Given the description of an element on the screen output the (x, y) to click on. 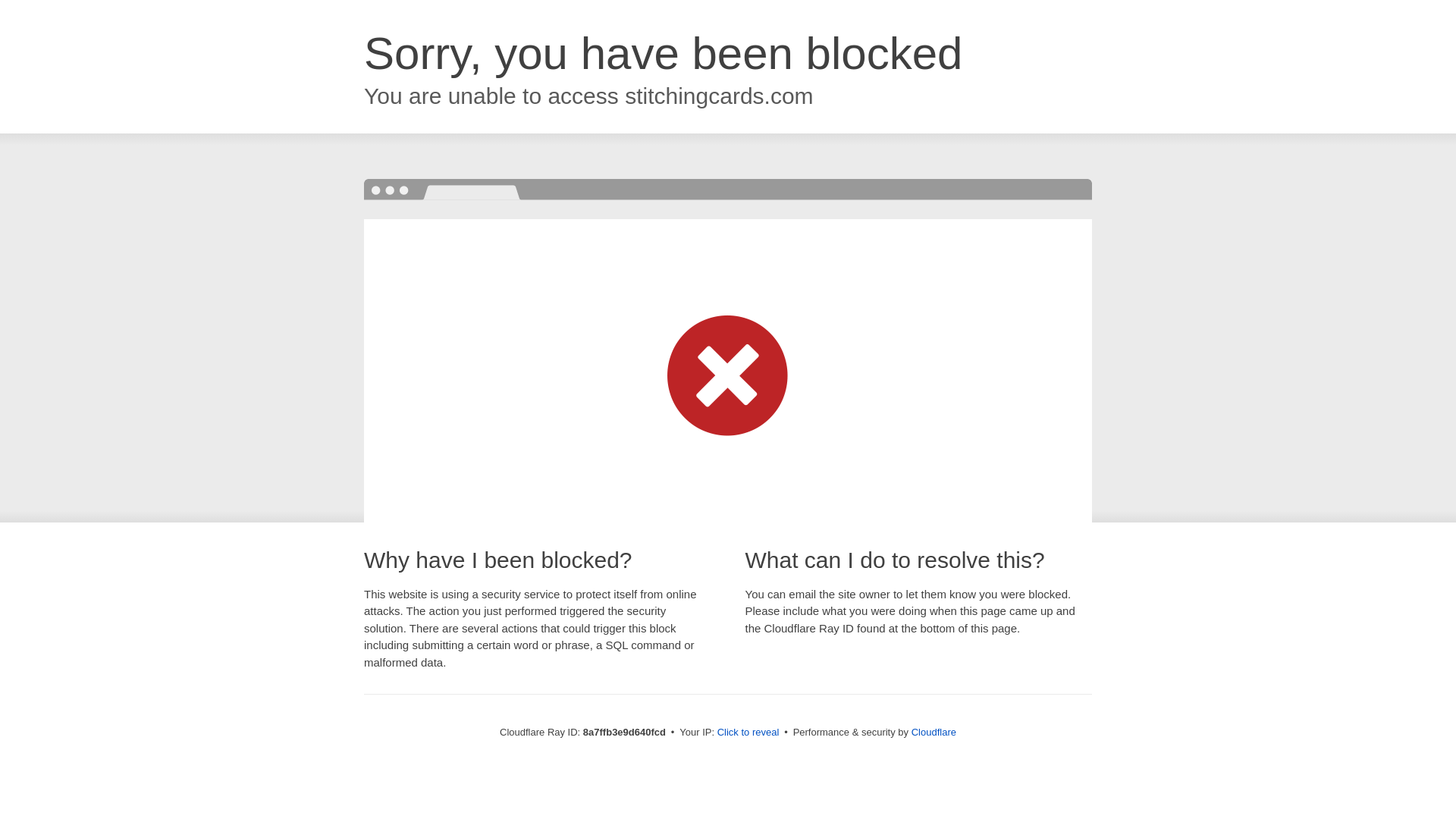
Cloudflare (933, 731)
Click to reveal (747, 732)
